Given the description of an element on the screen output the (x, y) to click on. 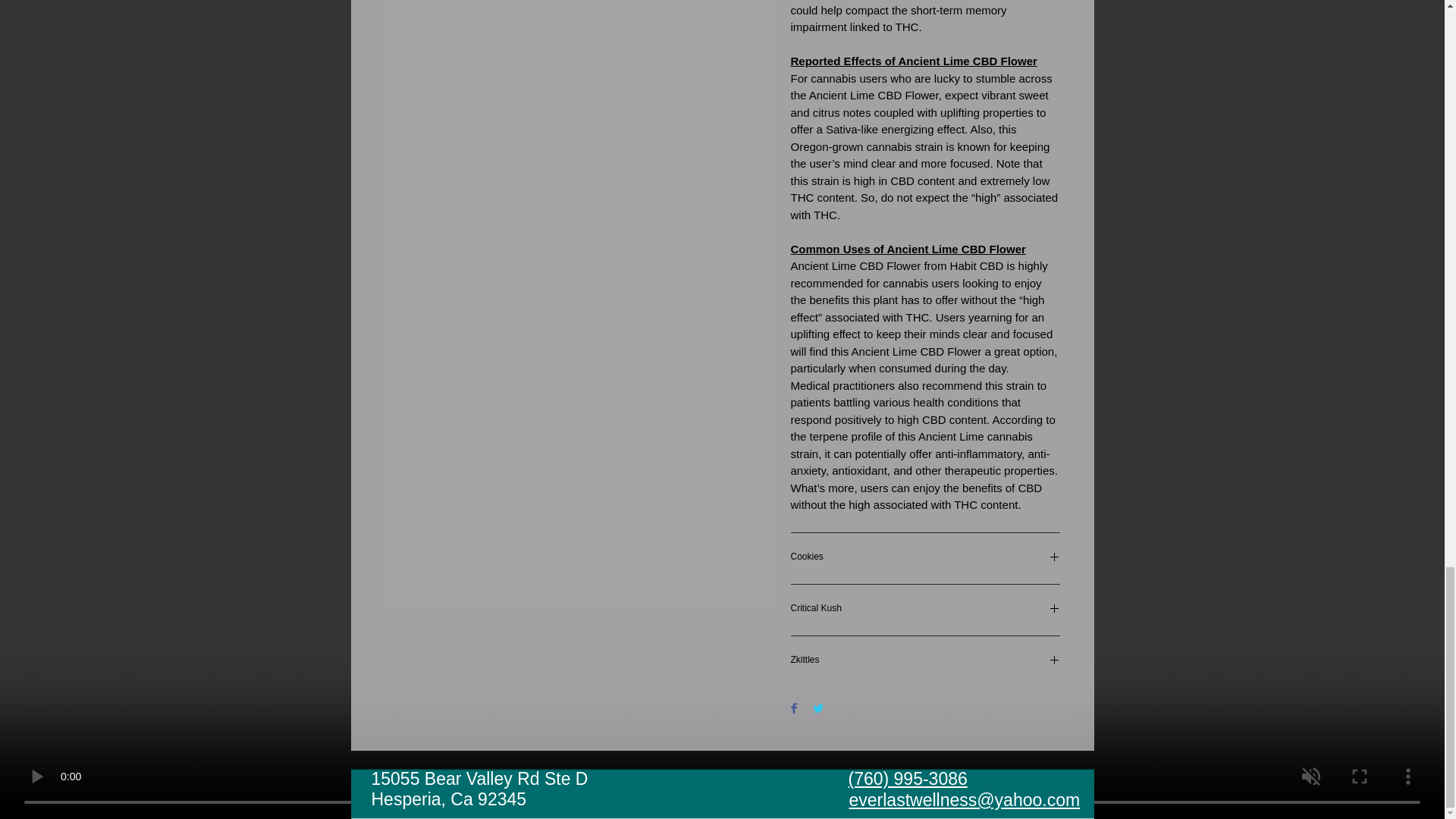
Critical Kush (924, 609)
Zkittles (924, 661)
Cookies (924, 558)
